Given the description of an element on the screen output the (x, y) to click on. 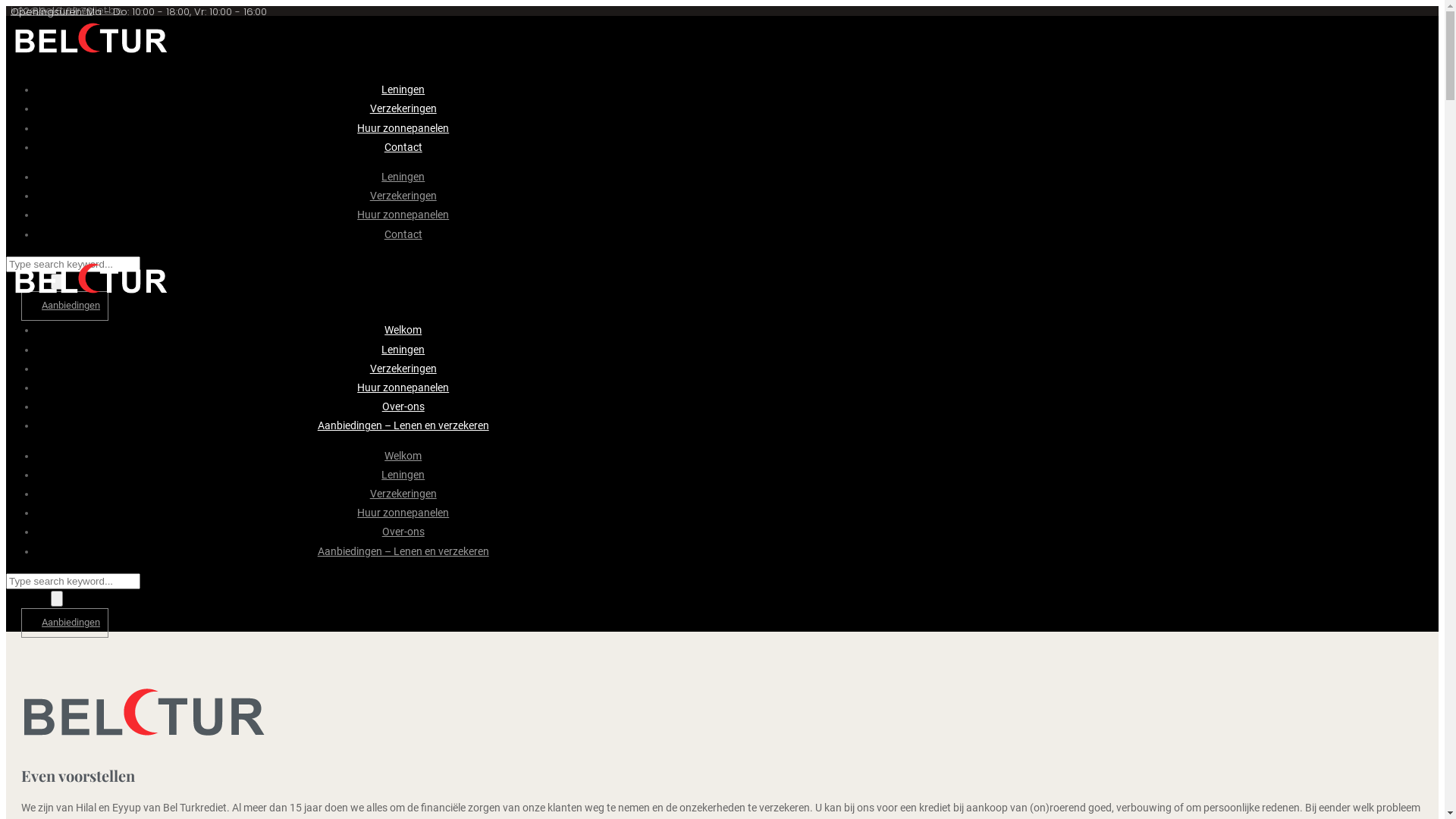
Huur zonnepanelen Element type: text (402, 387)
Huur zonnepanelen Element type: text (402, 512)
Verzekeringen Element type: text (403, 195)
Leningen Element type: text (402, 474)
Contact Element type: text (403, 233)
Huur zonnepanelen Element type: text (402, 214)
Aanbiedingen Element type: text (64, 305)
Leningen Element type: text (402, 176)
+32 89 46 63 73 Element type: text (51, 10)
Over-ons Element type: text (403, 531)
Aanbiedingen Element type: text (64, 622)
Huur zonnepanelen Element type: text (402, 128)
Over-ons Element type: text (403, 406)
logo-donker Element type: hover (144, 715)
Verzekeringen Element type: text (403, 493)
Contact Element type: text (403, 147)
Welkom Element type: text (402, 455)
Verzekeringen Element type: text (403, 368)
Verzekeringen Element type: text (403, 108)
Leningen Element type: text (402, 349)
Welkom Element type: text (402, 329)
info@bel-turkrediet.be Element type: text (66, 10)
Leningen Element type: text (402, 89)
